Given the description of an element on the screen output the (x, y) to click on. 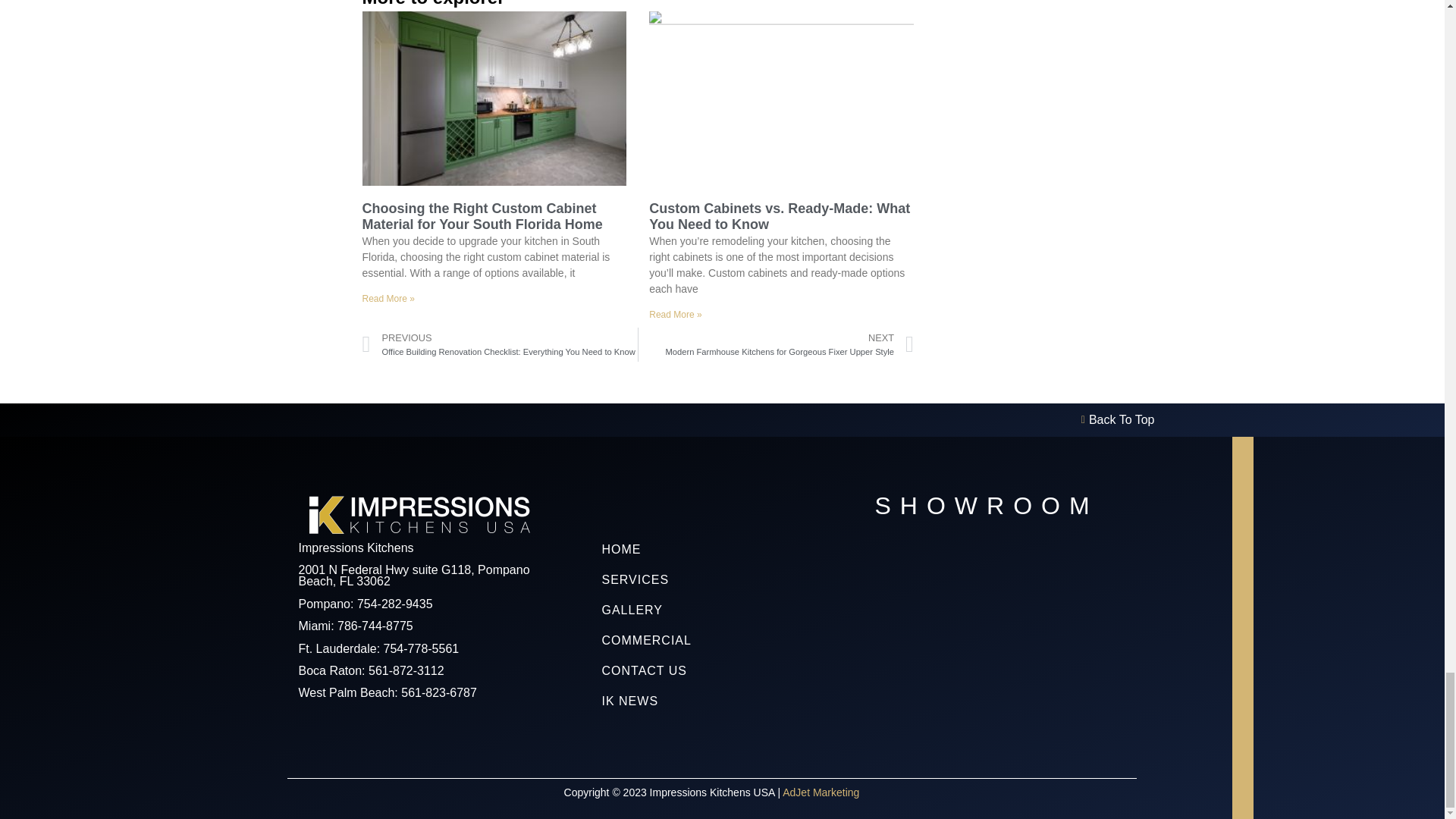
2001 N Federal Hwy Suite G118, Pompano Beach, FL 33062 (999, 636)
